Given the description of an element on the screen output the (x, y) to click on. 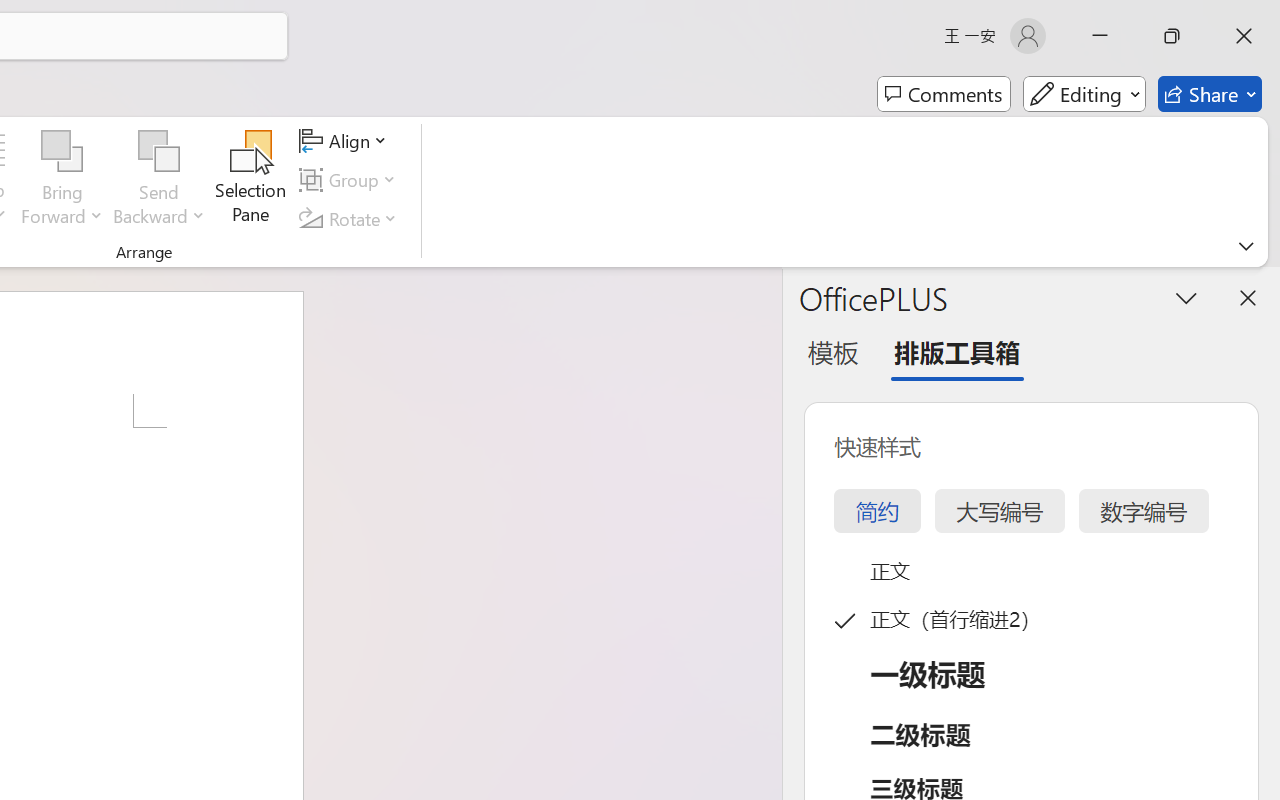
Send Backward (159, 151)
Bring Forward (62, 151)
